Given the description of an element on the screen output the (x, y) to click on. 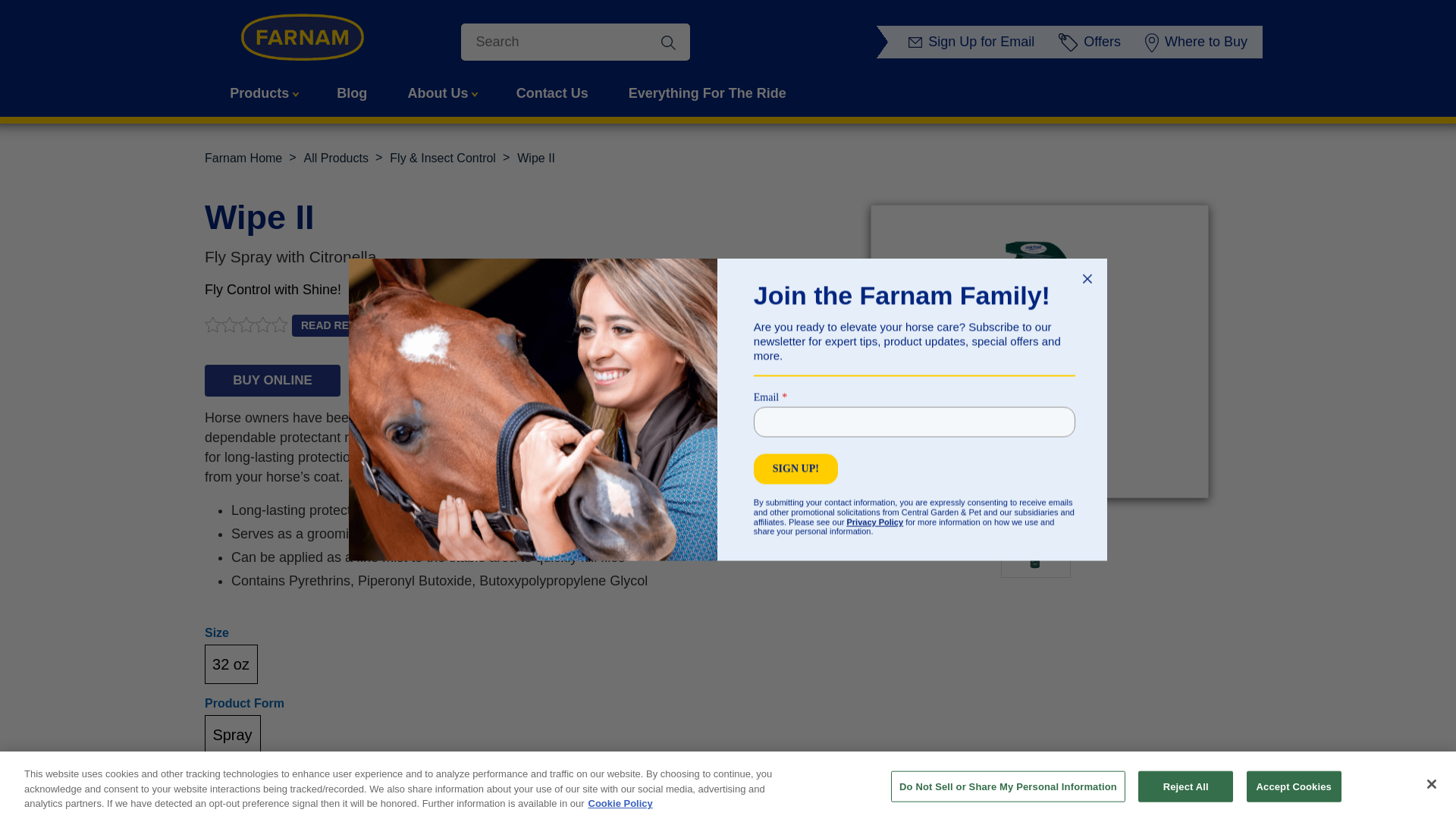
Everything For The Ride (707, 94)
Products (262, 94)
Where to Buy (1198, 41)
fly-insect-control (443, 157)
Sign Up for Email (974, 41)
Contact Us (552, 94)
Wipe II (535, 157)
Offers (1092, 41)
About Us (440, 94)
wipe-ii-brand (535, 157)
All Products (336, 157)
Home (243, 157)
Farnam Home (243, 157)
Blog (351, 94)
